Given the description of an element on the screen output the (x, y) to click on. 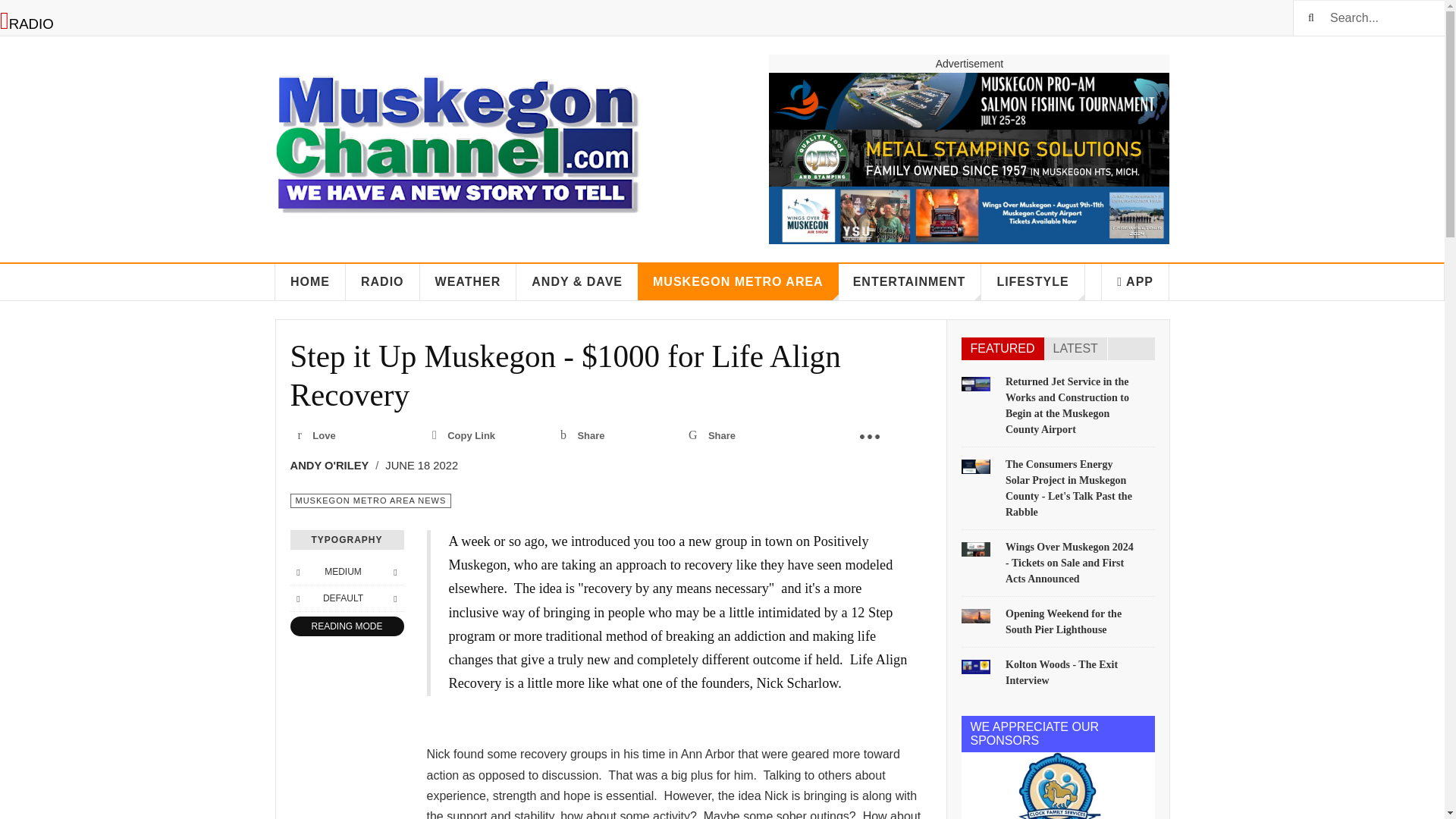
WEATHER (468, 281)
RADIO (383, 281)
Wings Over Muskegon 24 (968, 214)
The Muskegon Channel (457, 135)
MUSKEGON METRO AREA (737, 281)
HOME (310, 281)
Play Online Radio (26, 24)
AD Salmon Fishing (968, 100)
